Given the description of an element on the screen output the (x, y) to click on. 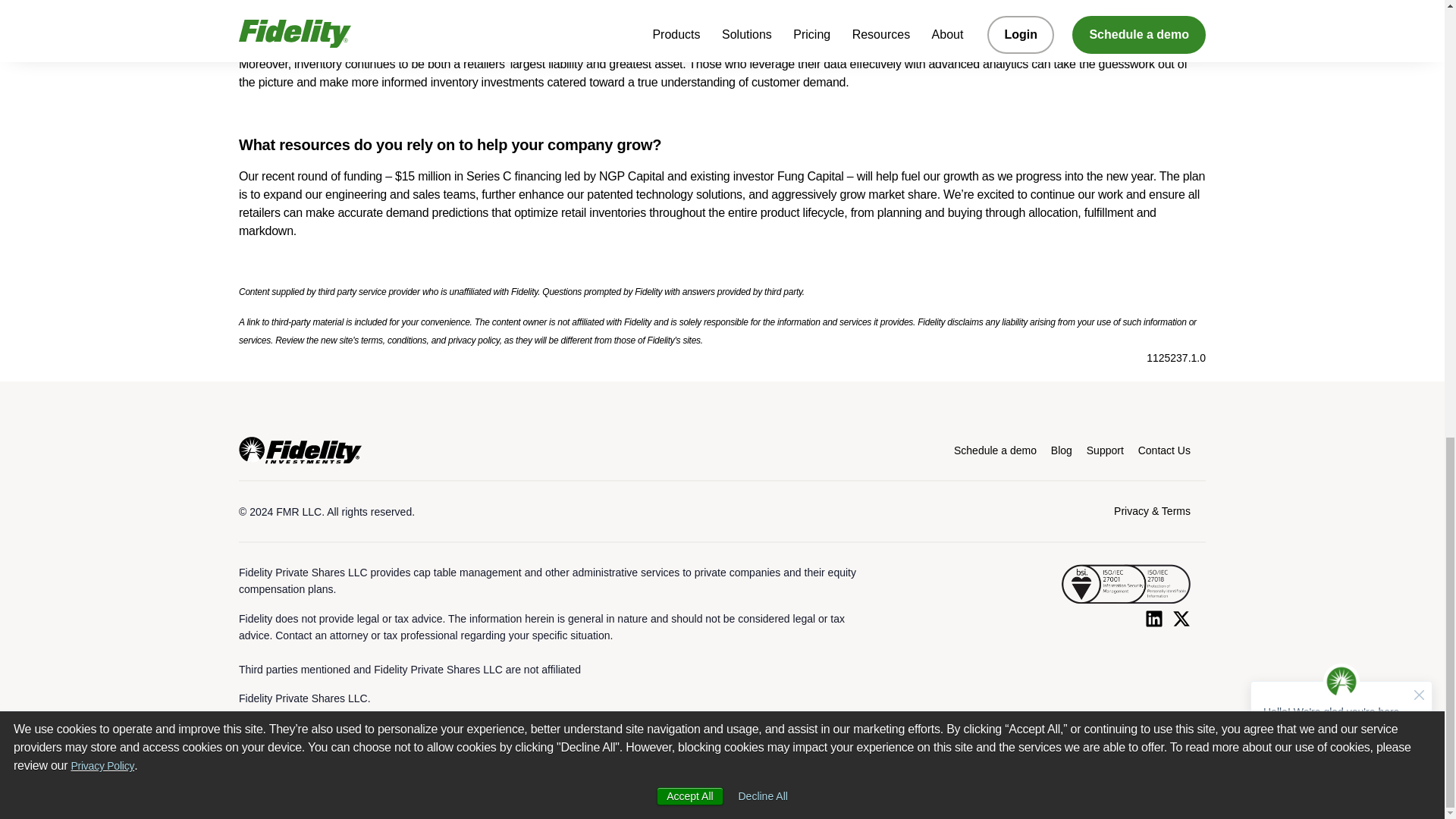
Fidelity-footer-logo (300, 450)
Schedule a demo (994, 450)
bsi-certification (1126, 583)
Blog (1061, 450)
